Given the description of an element on the screen output the (x, y) to click on. 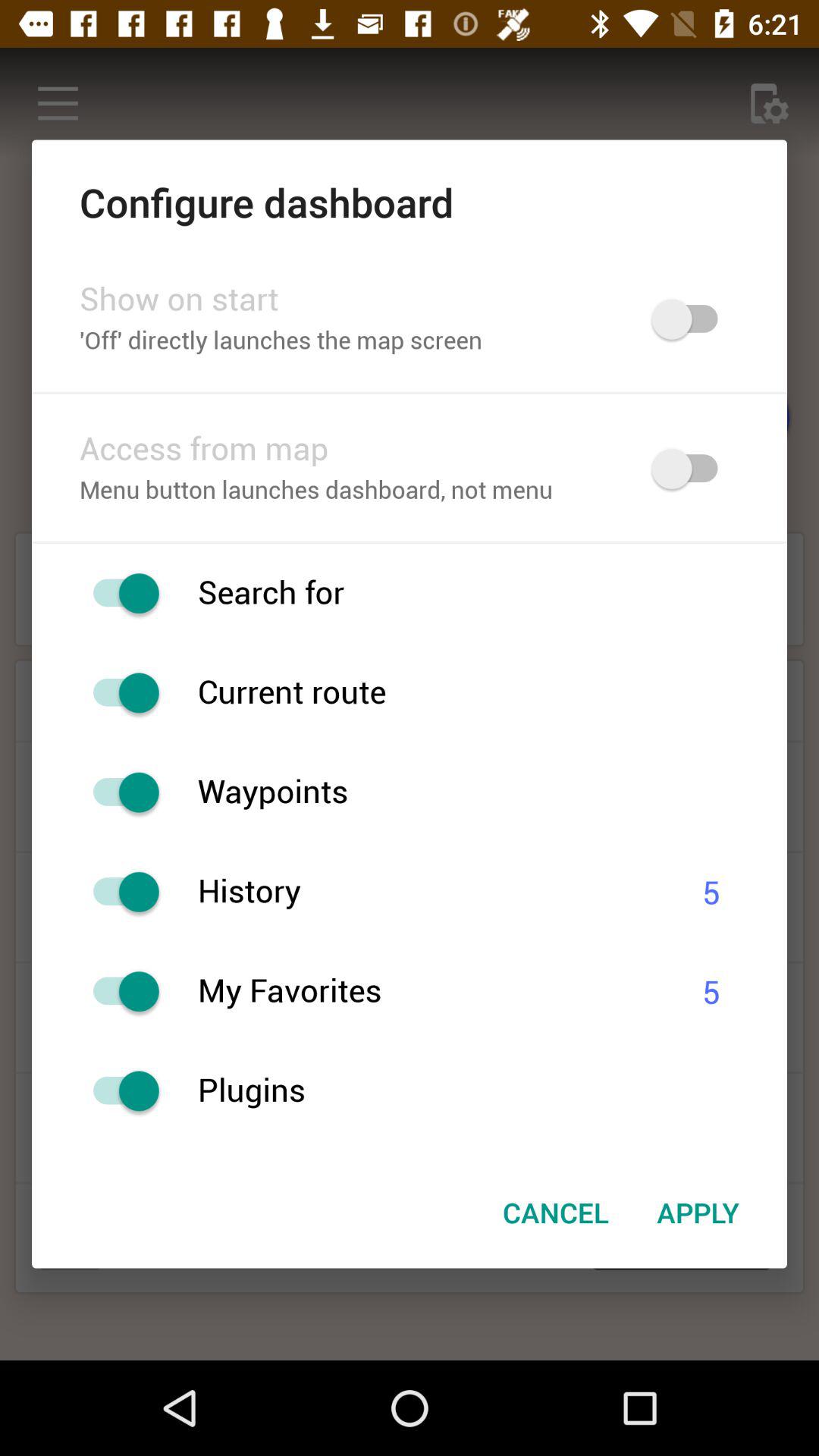
flip to the off directly launches icon (346, 341)
